Given the description of an element on the screen output the (x, y) to click on. 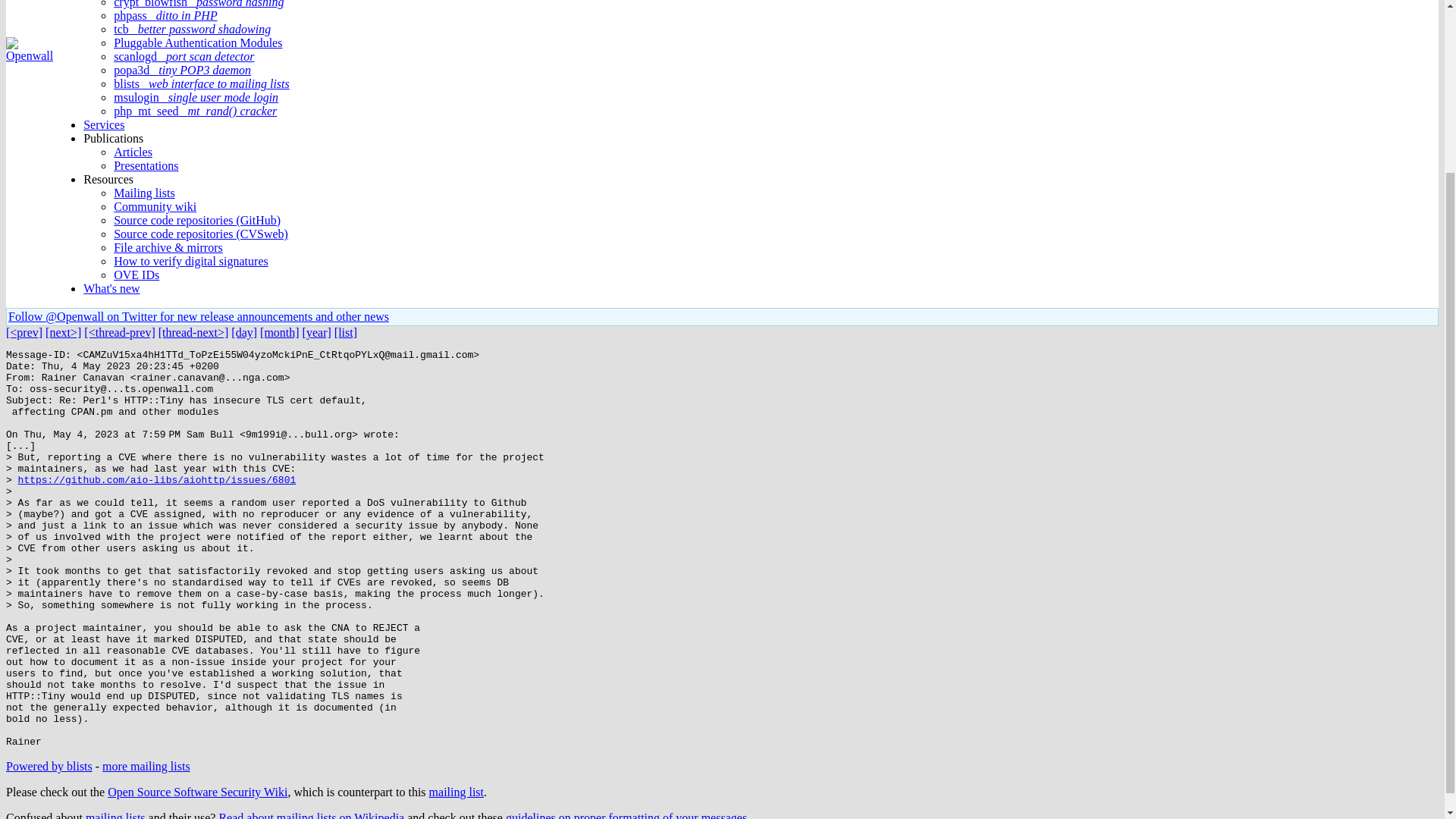
Publications (112, 137)
msulogin   single user mode login (195, 97)
Mailing lists (143, 192)
blists   web interface to mailing lists (201, 83)
What's new (110, 287)
Services (102, 124)
How to verify digital signatures (190, 260)
Presentations (145, 164)
OVE IDs (135, 274)
Pluggable Authentication Modules (197, 42)
